Given the description of an element on the screen output the (x, y) to click on. 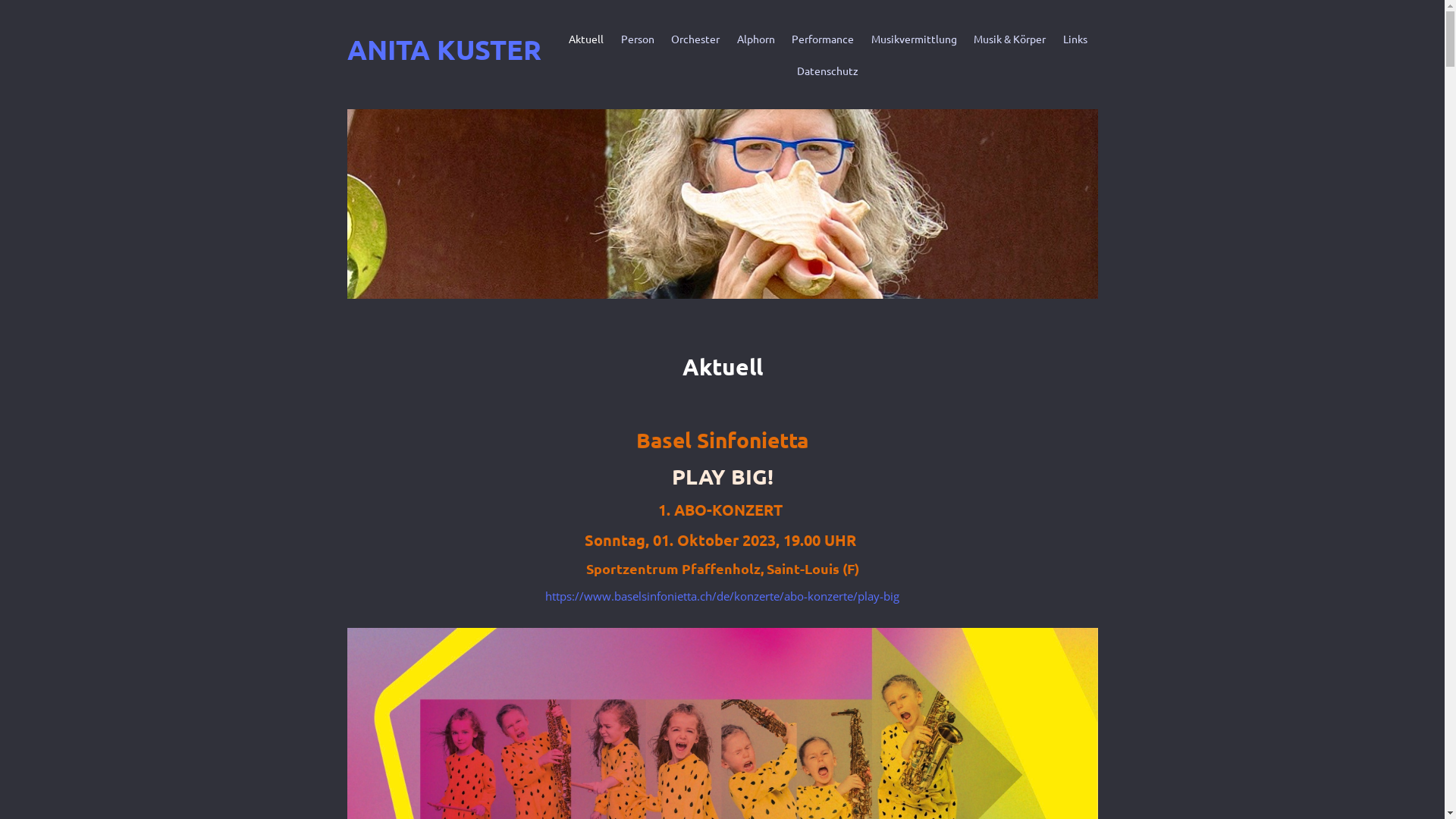
Aktuell Element type: text (585, 38)
Musikvermittlung Element type: text (913, 38)
Performance Element type: text (822, 38)
Orchester Element type: text (695, 38)
Person Element type: text (636, 38)
Links Element type: text (1075, 38)
ANITA KUSTER Element type: text (444, 48)
Datenschutz Element type: text (827, 70)
Alphorn Element type: text (756, 38)
